Given the description of an element on the screen output the (x, y) to click on. 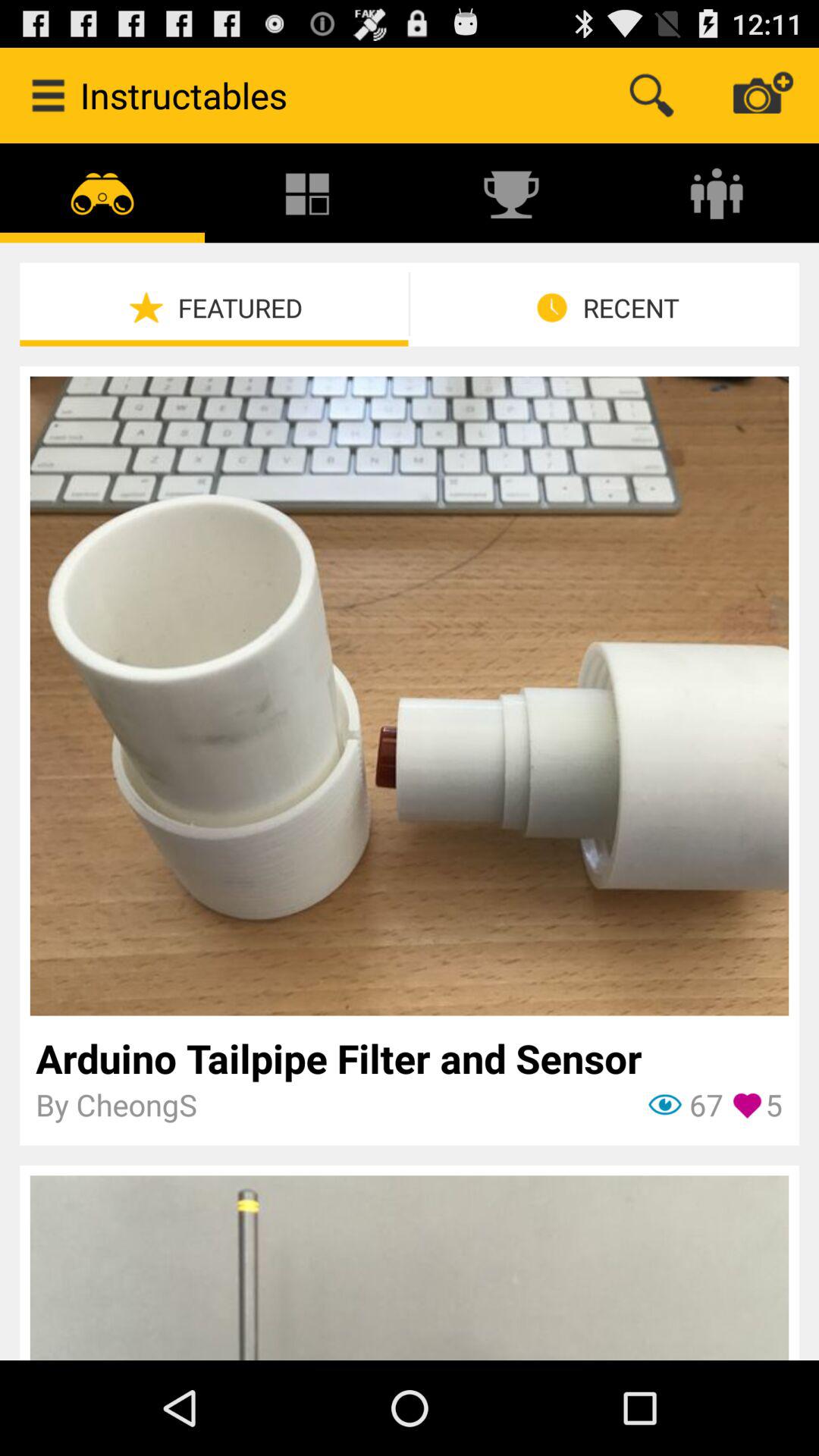
choose the icon below instructables (306, 192)
